Given the description of an element on the screen output the (x, y) to click on. 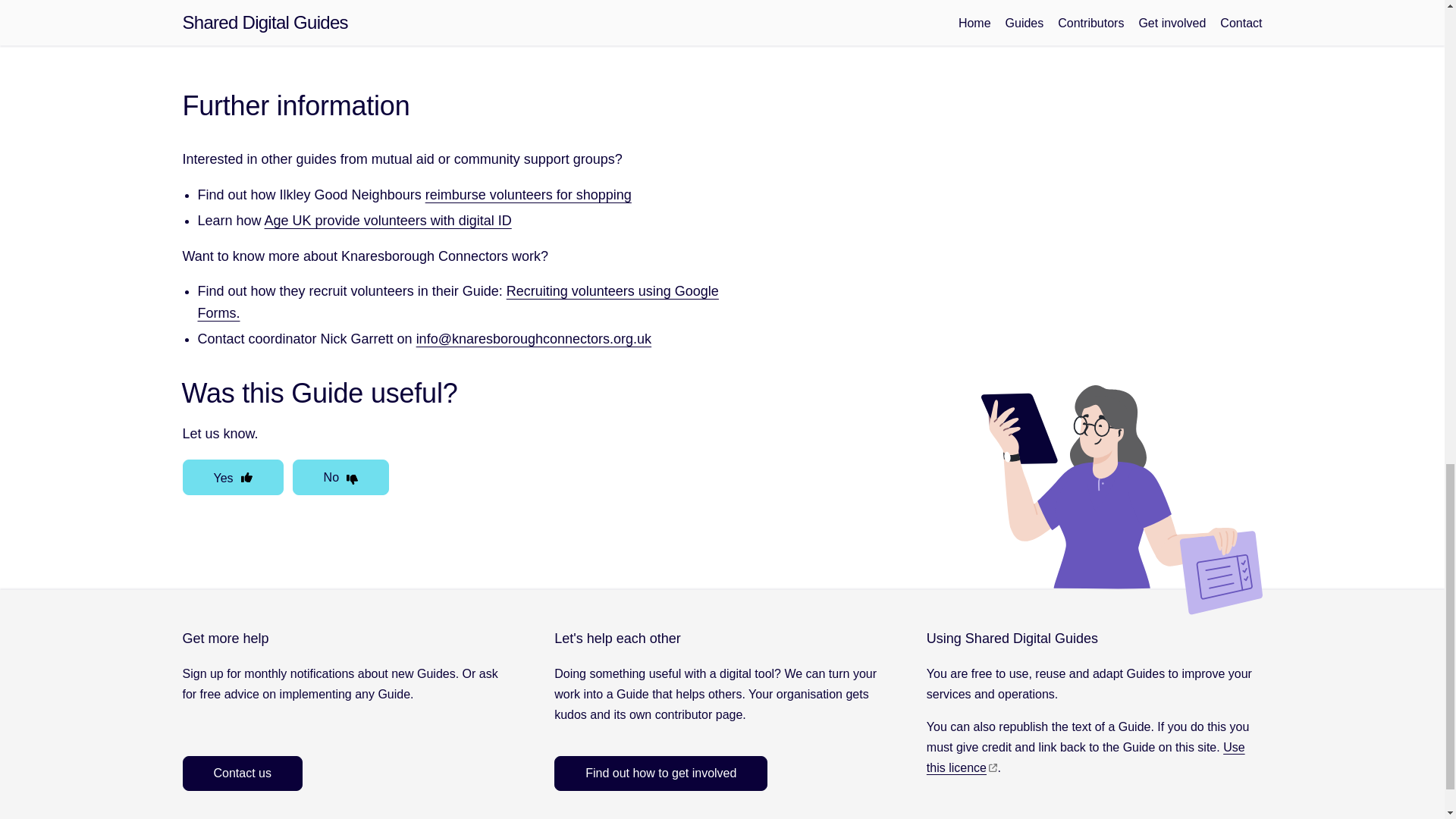
Age UK provide volunteers with digital ID (388, 220)
Yes (232, 477)
Use this licence (1085, 757)
Contact us (241, 772)
No (340, 477)
Recruiting volunteers using Google Forms. (456, 302)
Find out how to get involved (660, 772)
reimburse volunteers for shopping (528, 194)
